Given the description of an element on the screen output the (x, y) to click on. 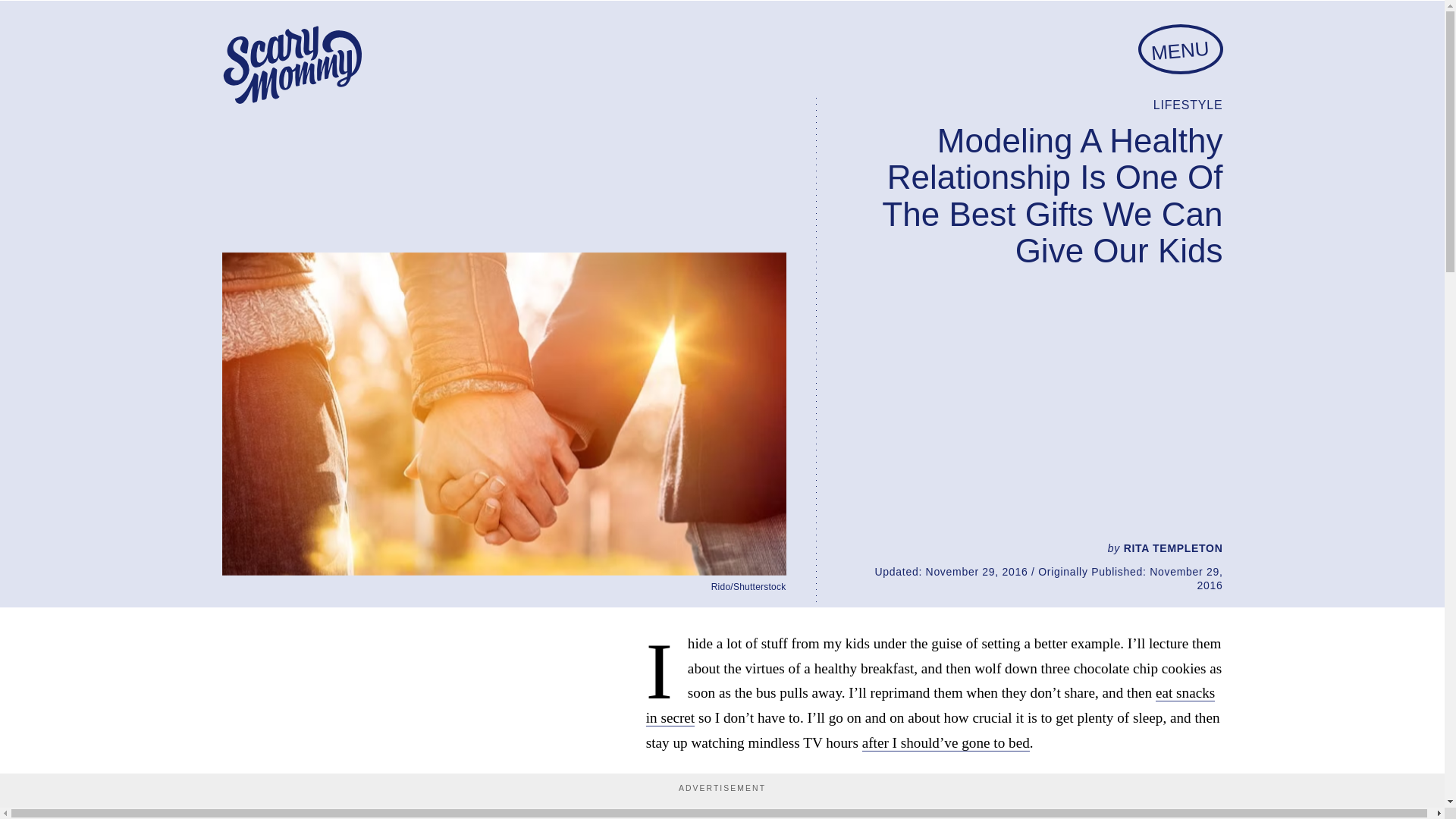
Scary Mommy (291, 64)
eat snacks in secret (930, 705)
